Given the description of an element on the screen output the (x, y) to click on. 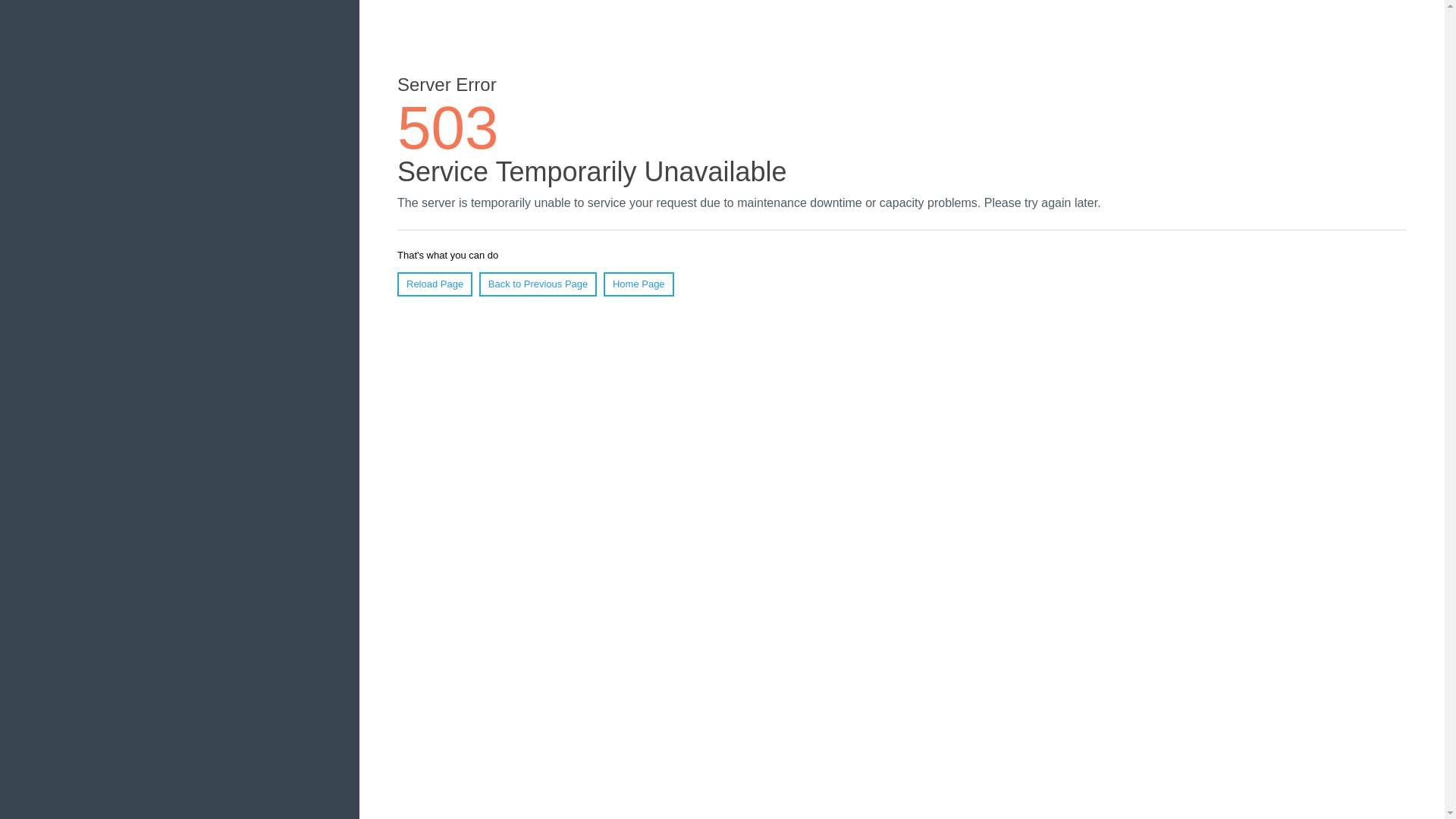
Home Page (639, 283)
Back to Previous Page (537, 283)
Reload Page (434, 283)
